Given the description of an element on the screen output the (x, y) to click on. 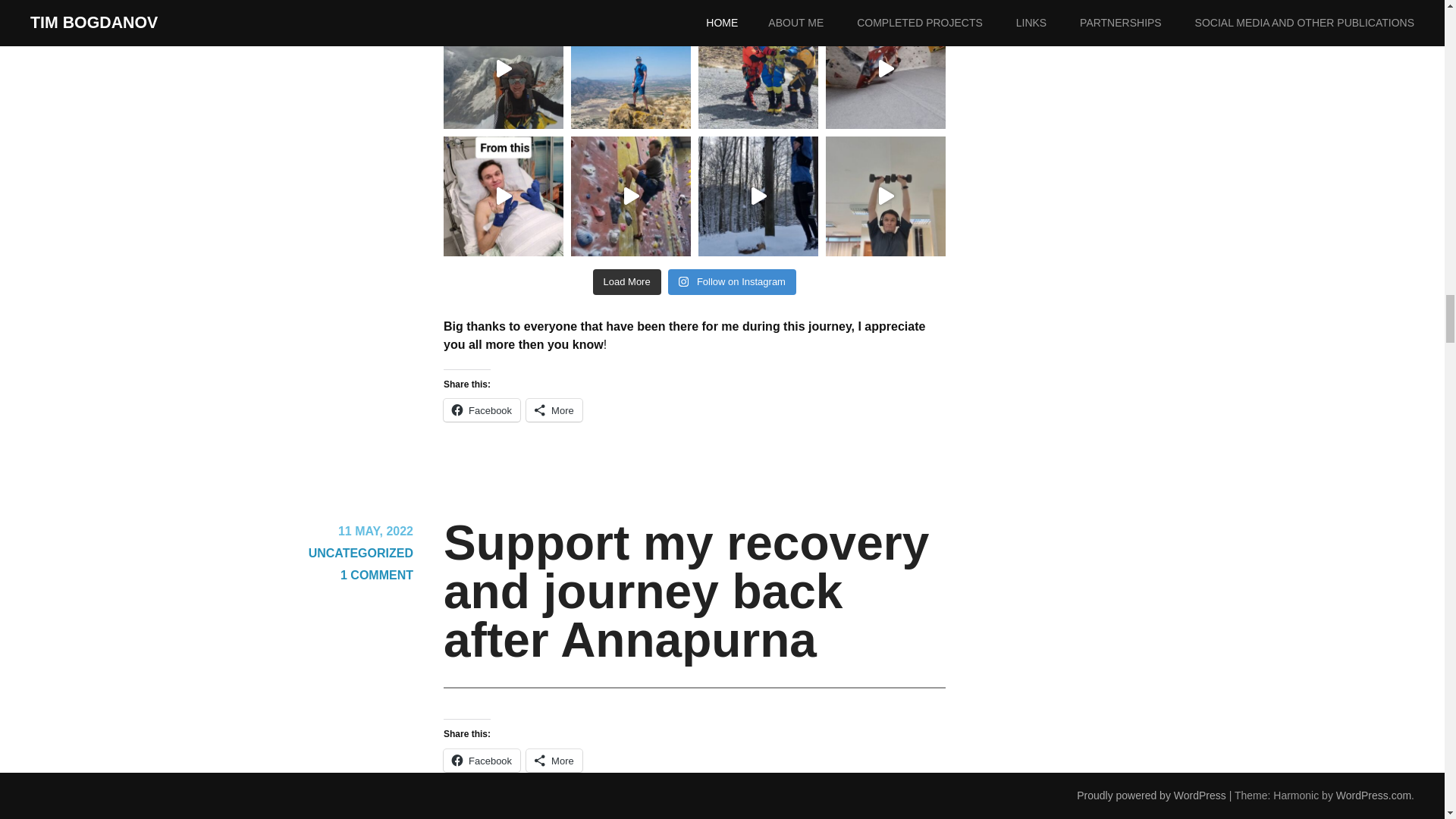
Click to share on Facebook (481, 409)
